Given the description of an element on the screen output the (x, y) to click on. 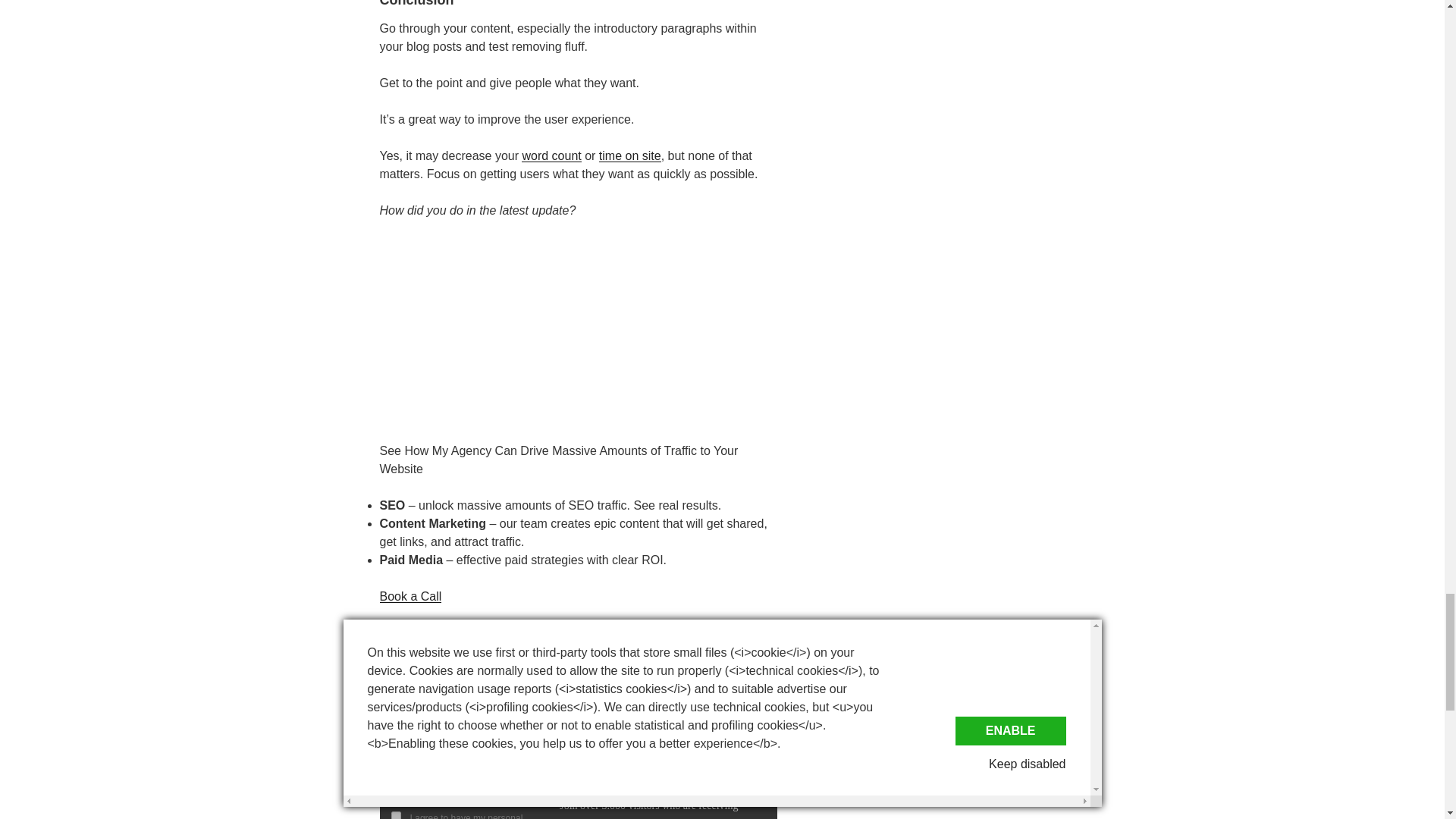
on (396, 815)
SUBSCRIBE NOW (464, 792)
